Given the description of an element on the screen output the (x, y) to click on. 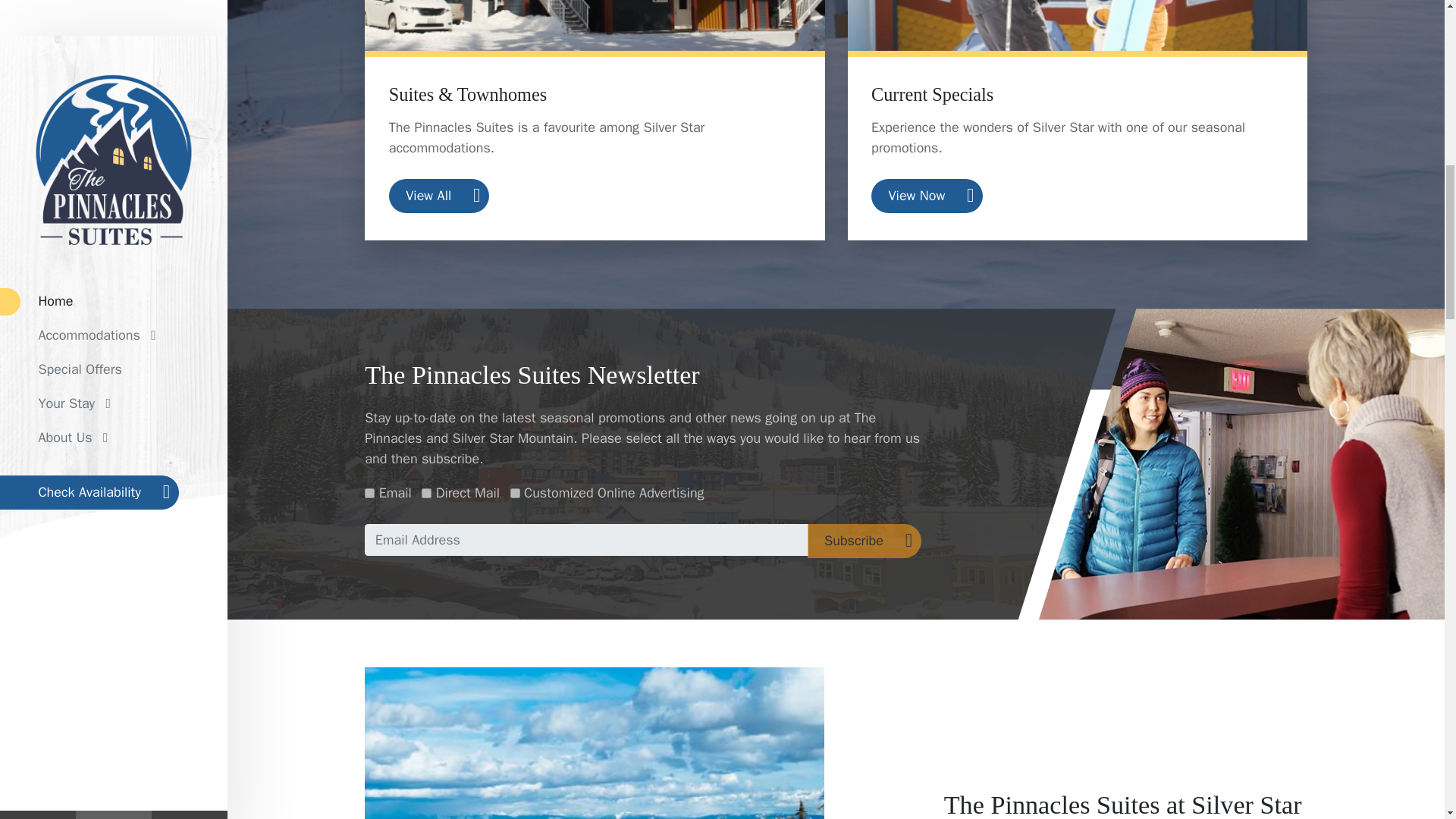
Y (515, 492)
Subscribe (864, 540)
Y (369, 492)
Y (426, 492)
View All (438, 195)
View Now (926, 195)
